Given the description of an element on the screen output the (x, y) to click on. 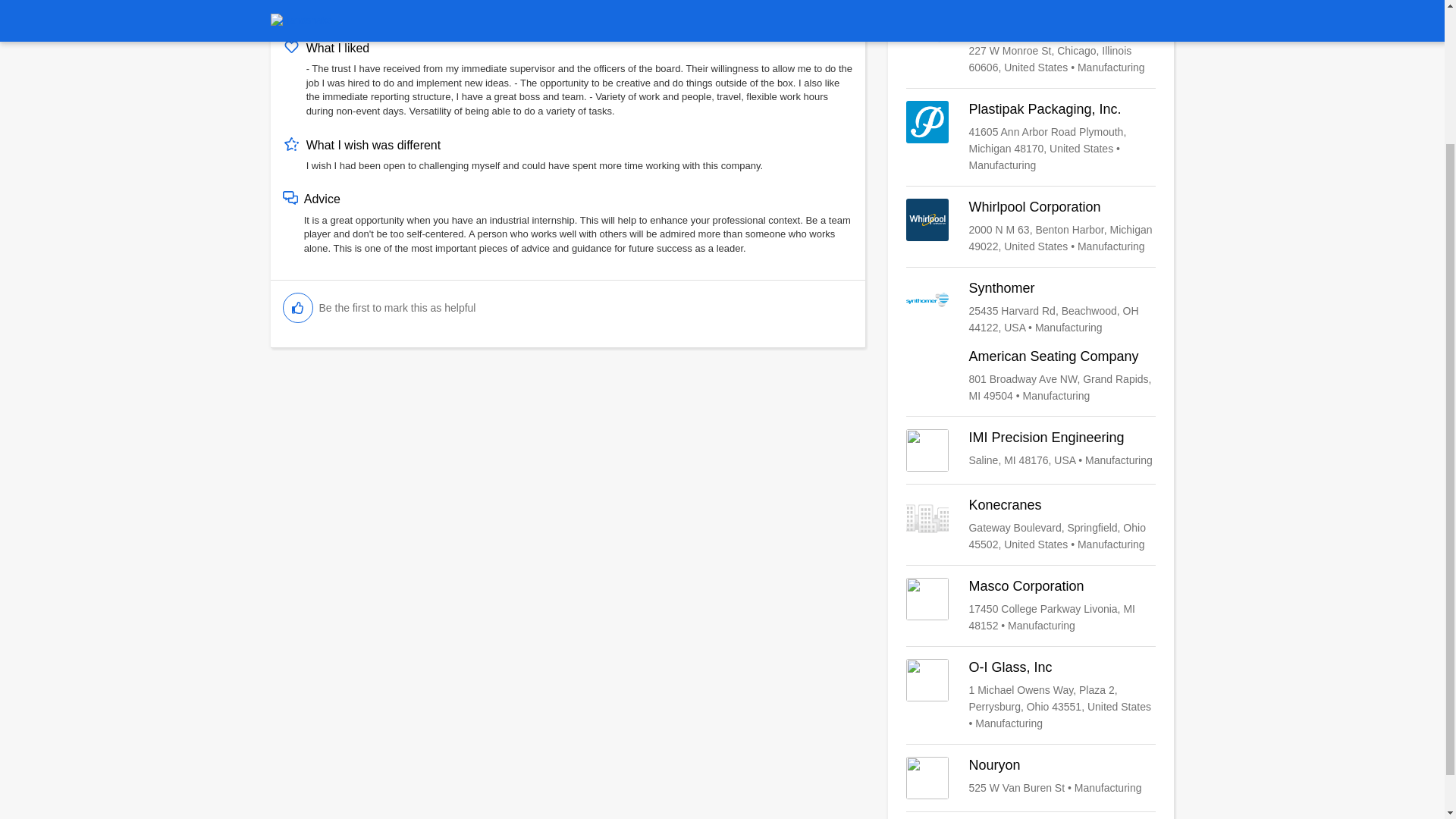
IMI Precision Engineering (1030, 450)
Ryerson (1030, 47)
Nouryon (1030, 777)
Mark this as helpful (297, 307)
Konecranes (1030, 524)
O-I Glass, Inc (1030, 695)
Masco Corporation (1030, 605)
Synthomer (1030, 307)
Plastipak Packaging, Inc. (1030, 136)
American Seating Company (1030, 376)
Whirlpool Corporation (1030, 226)
